Given the description of an element on the screen output the (x, y) to click on. 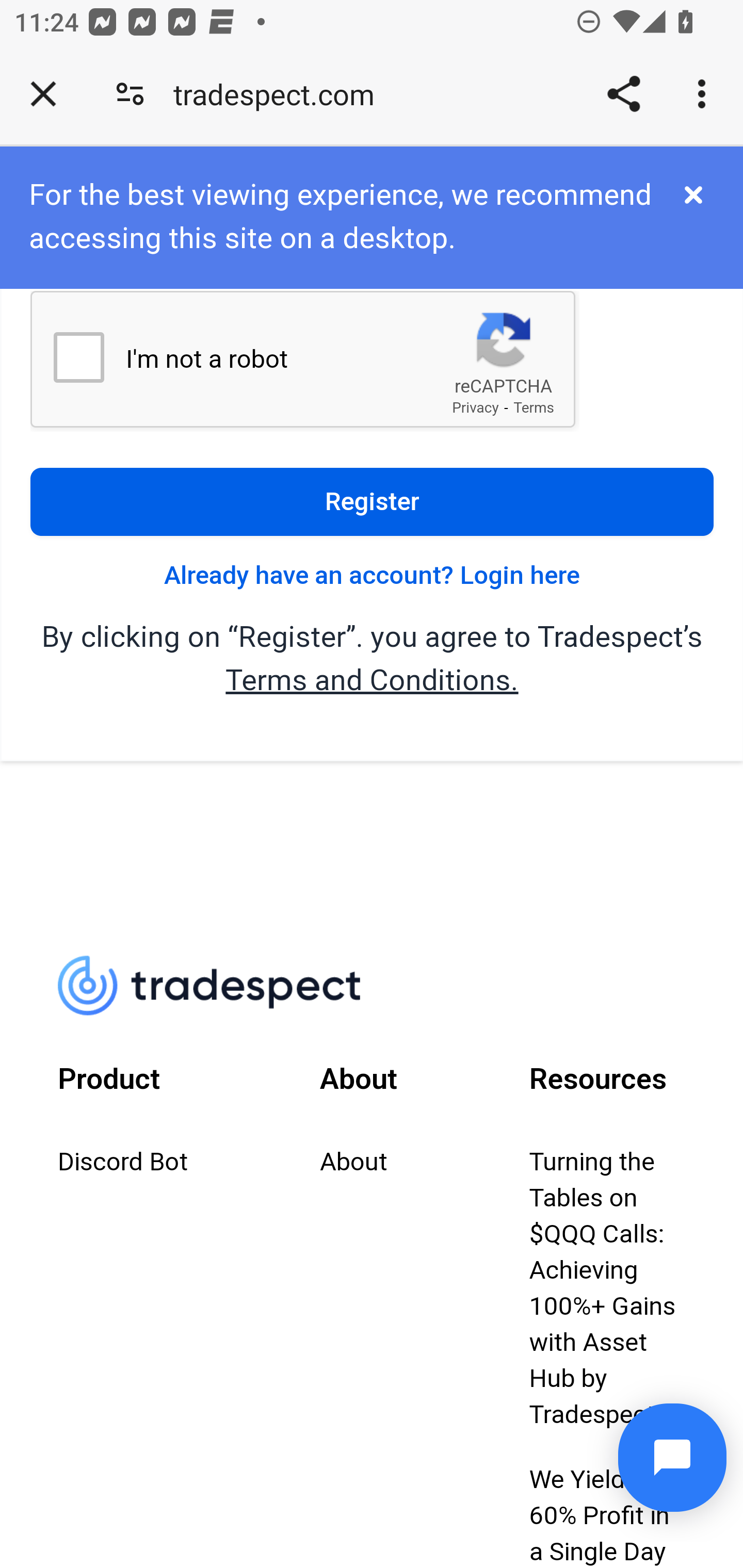
Close tab (43, 93)
Share (623, 93)
Customize and control Google Chrome (705, 93)
Connection is secure (129, 93)
tradespect.com (281, 93)
I'm not a robot (78, 358)
Register (371, 502)
Already have an account? Login here (371, 576)
Terms and Conditions. (371, 681)
Company name (220, 986)
Discord Bot (123, 1163)
About (353, 1163)
